Given the description of an element on the screen output the (x, y) to click on. 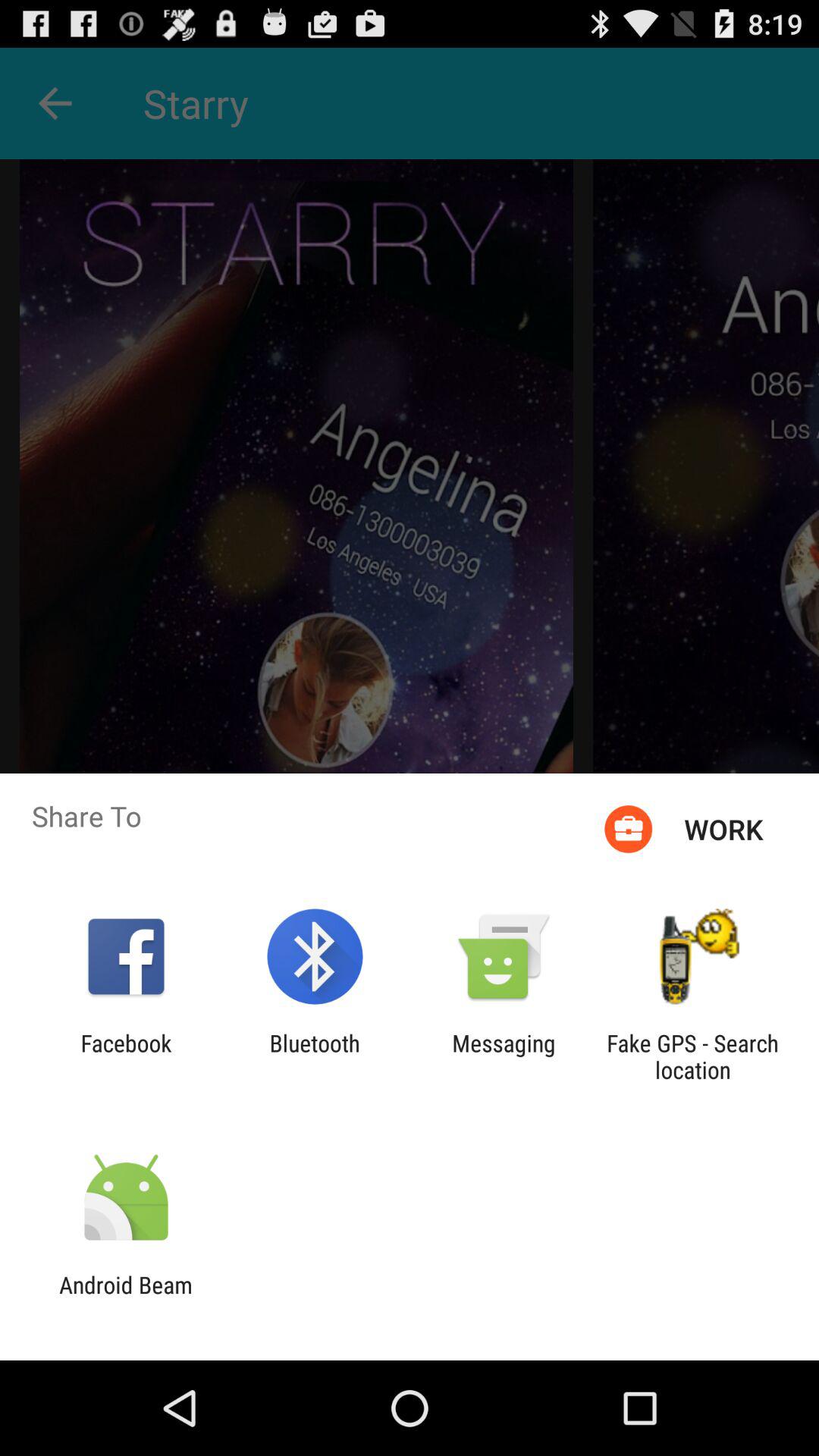
press messaging item (503, 1056)
